Given the description of an element on the screen output the (x, y) to click on. 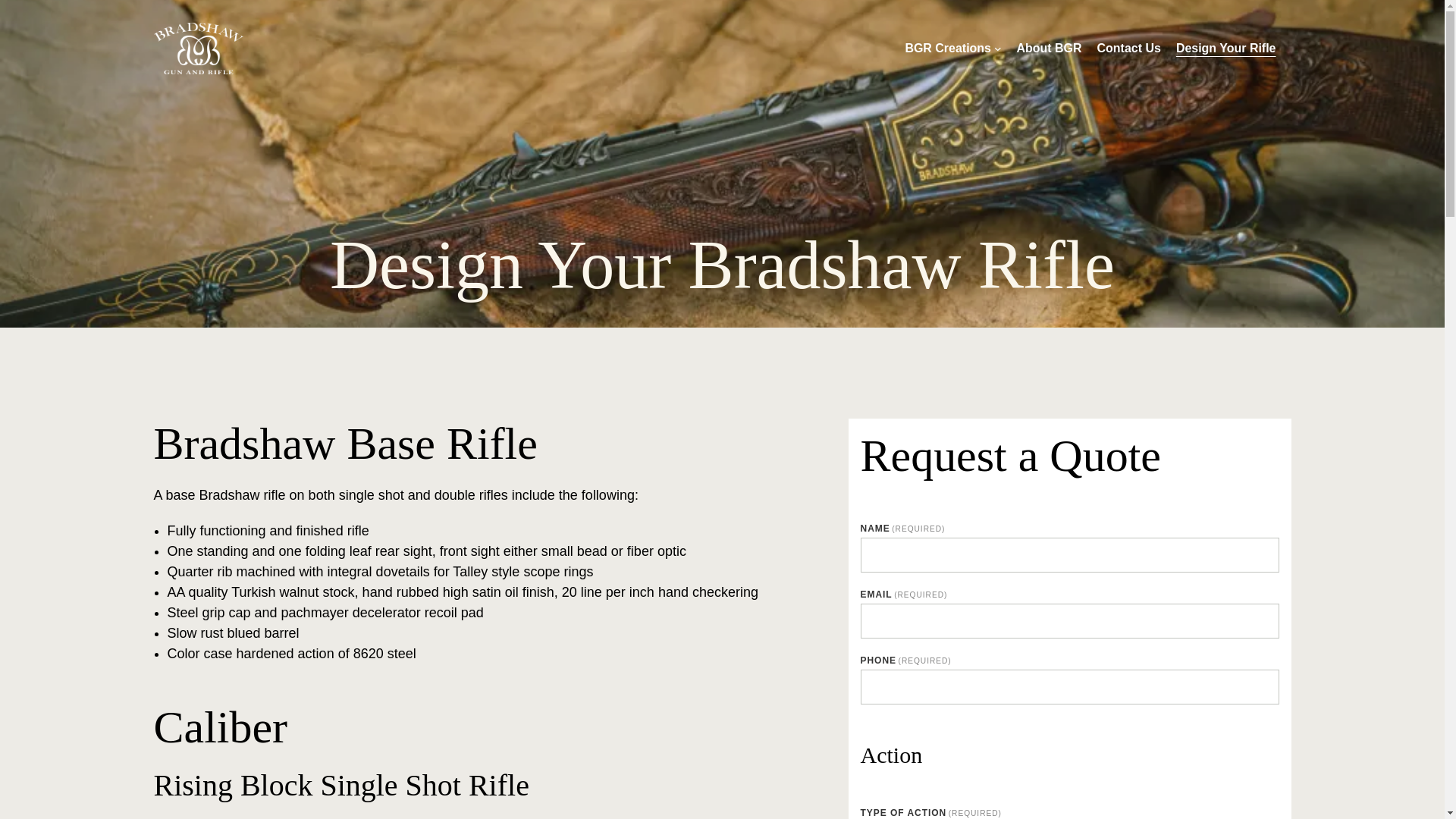
BGR Creations (947, 48)
Design Your Rifle (1226, 48)
Contact Us (1128, 48)
About BGR (1048, 48)
